Given the description of an element on the screen output the (x, y) to click on. 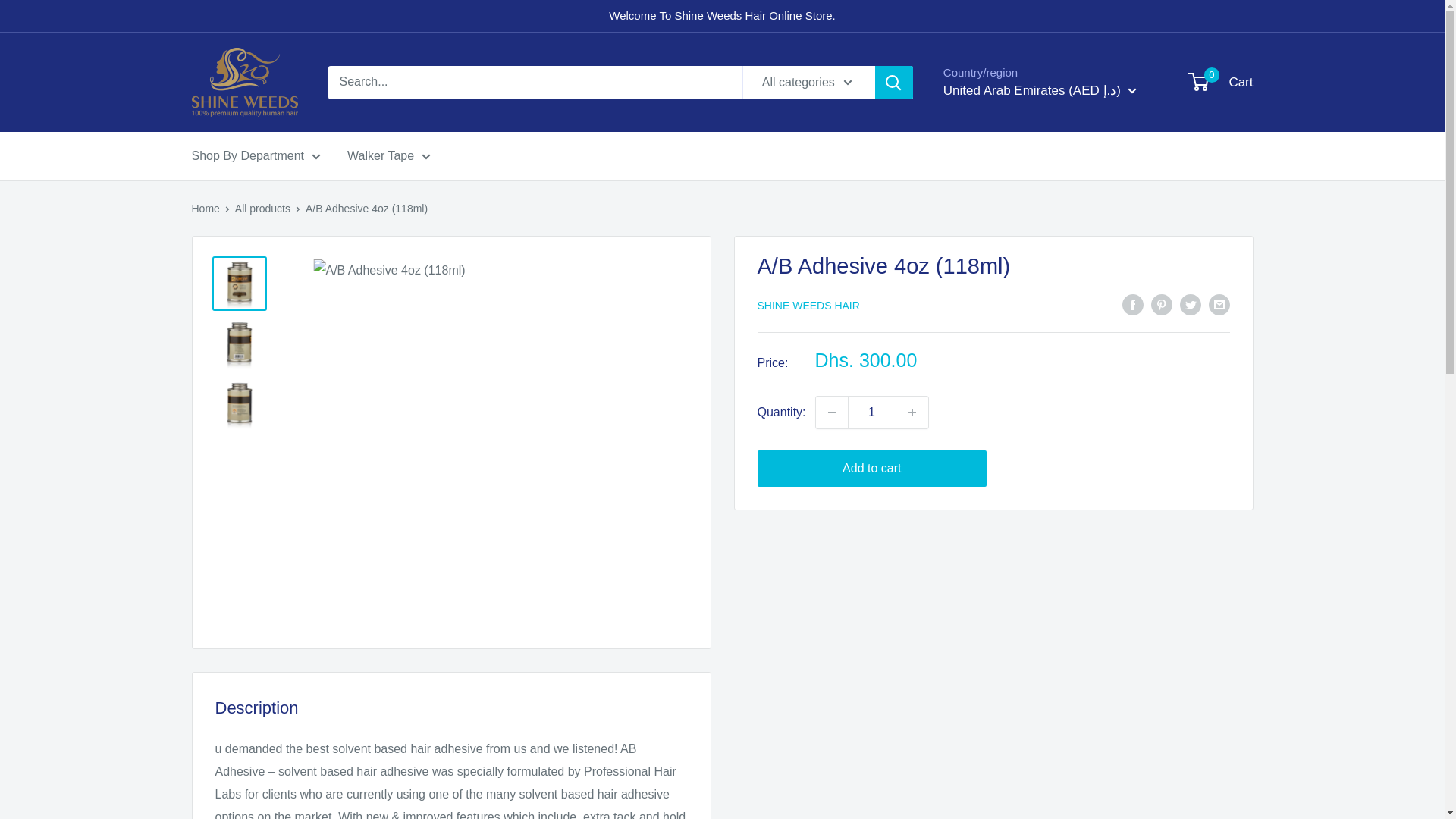
Decrease quantity by 1 (831, 412)
Increase quantity by 1 (912, 412)
1 (871, 412)
